Given the description of an element on the screen output the (x, y) to click on. 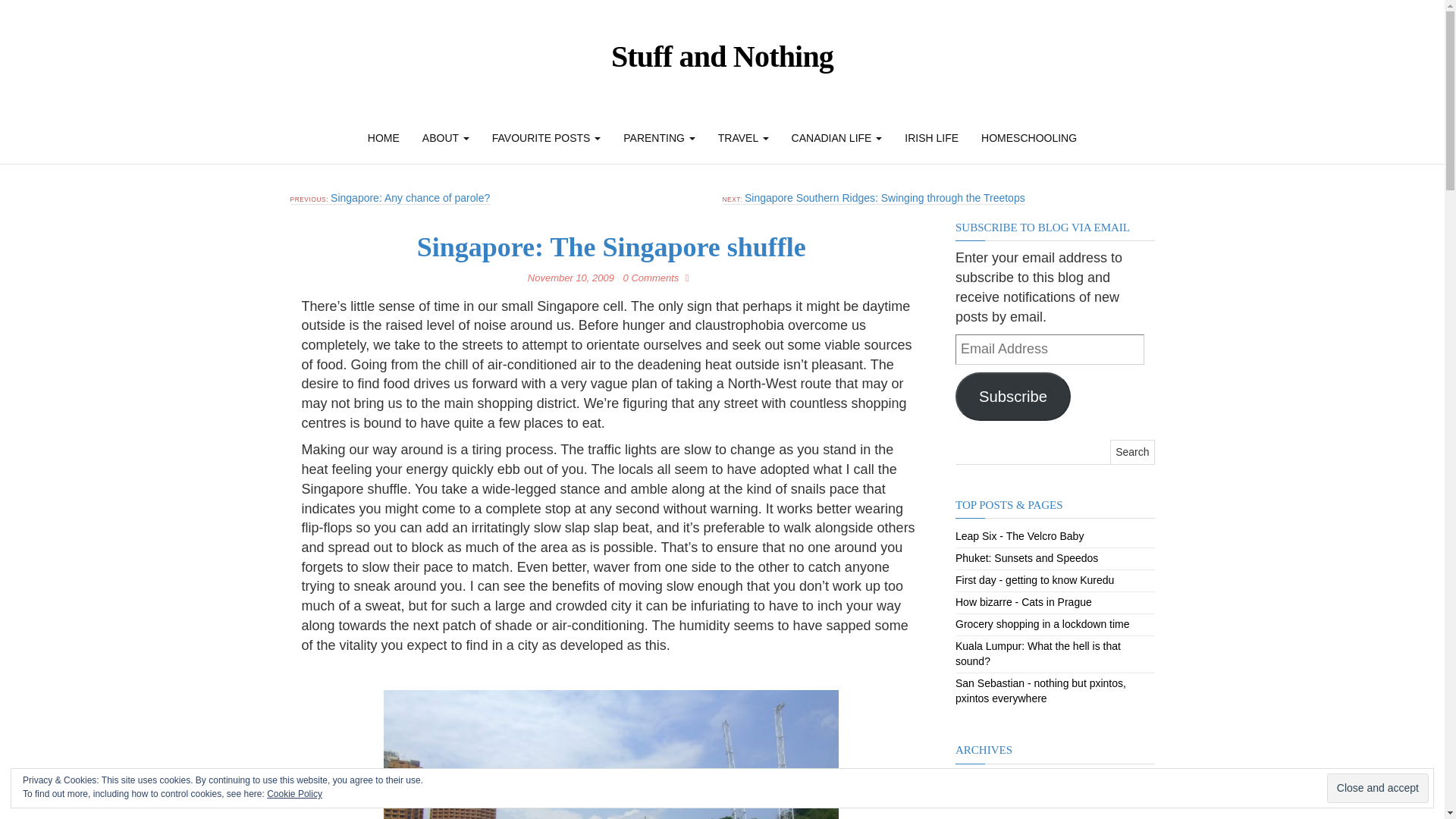
HOMESCHOOLING (1028, 137)
IRISH LIFE (931, 137)
CANADIAN LIFE (836, 137)
TRAVEL (743, 137)
Search (1131, 452)
Home (383, 137)
About (445, 137)
Parenting (658, 137)
HOME (383, 137)
PREVIOUS: Singapore: Any chance of parole? (389, 197)
Close and accept (1377, 788)
FAVOURITE POSTS (546, 137)
0 Comments (654, 277)
Favourite Posts (546, 137)
